Given the description of an element on the screen output the (x, y) to click on. 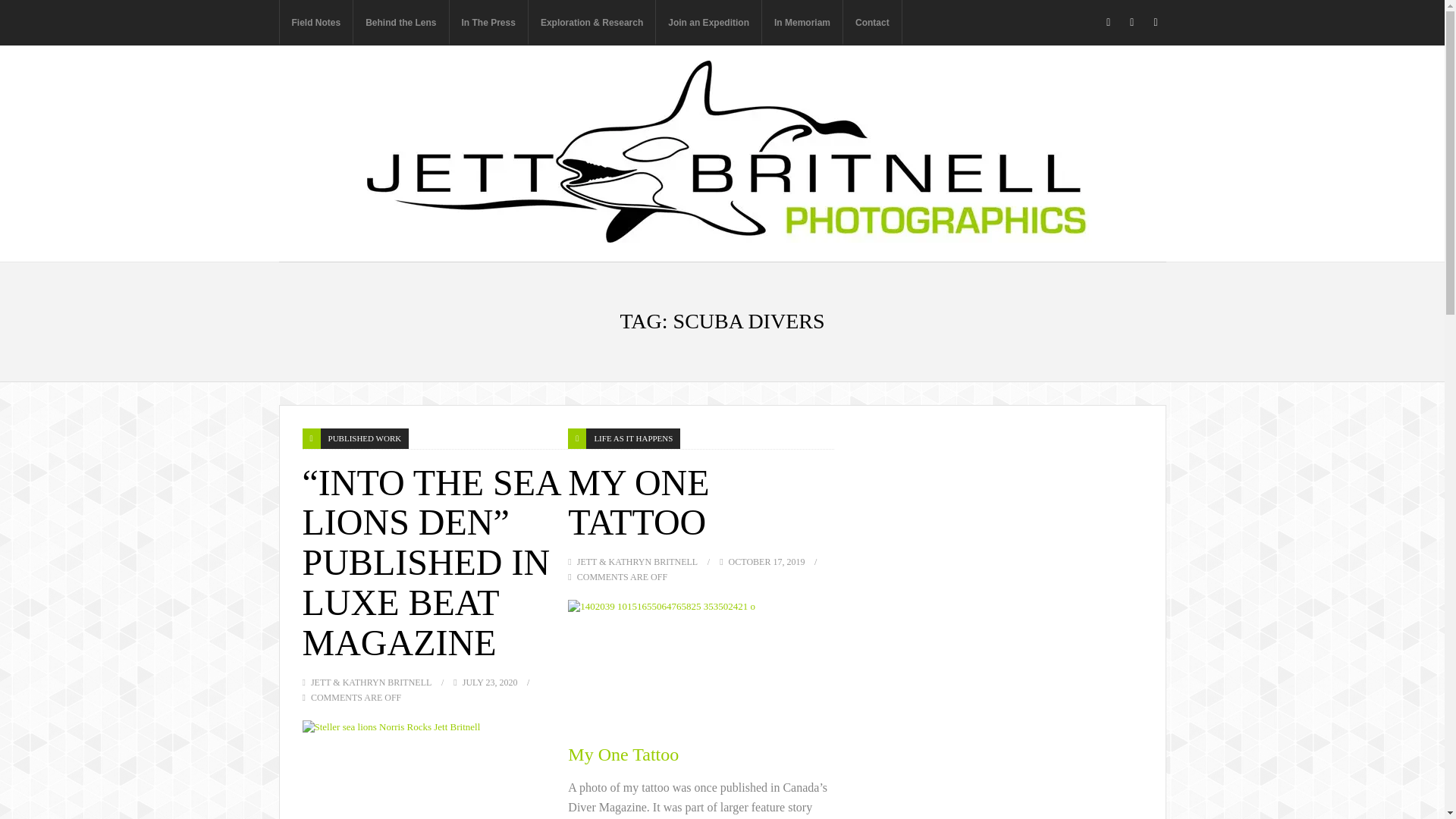
My One Tattoo (638, 502)
Field Notes (316, 22)
Contact (872, 22)
View all posts in Published Work (364, 438)
Behind the Lens (400, 22)
View all posts in Life As It Happens (632, 438)
Join an Expedition (708, 22)
In Memoriam (802, 22)
In The Press (487, 22)
My One Tattoo (700, 663)
